Given the description of an element on the screen output the (x, y) to click on. 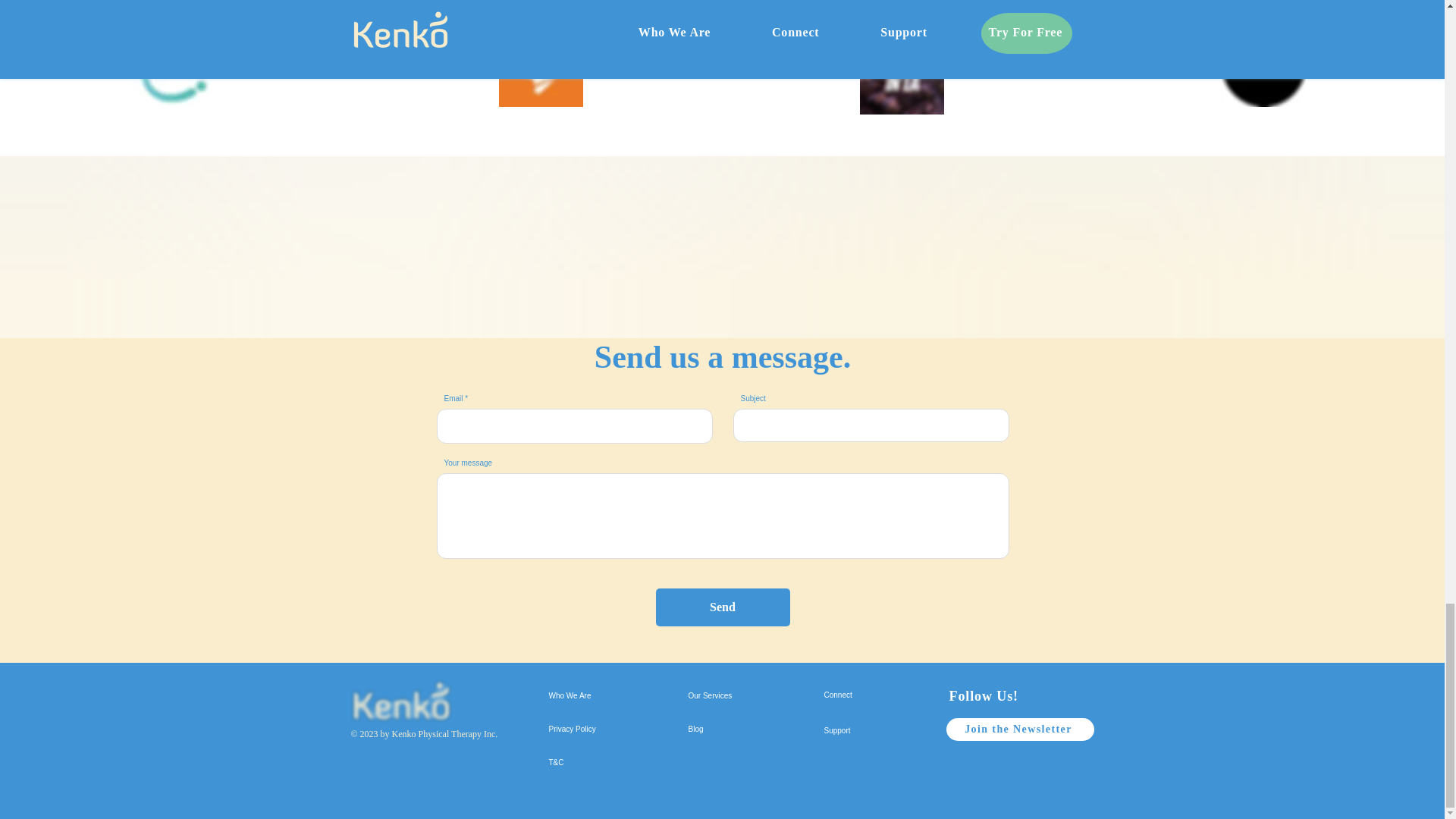
Long Beach Accelerator (176, 64)
Northeastern University Alpha Fund (1263, 64)
Send (722, 607)
Privacy Policy (599, 729)
Blog (739, 729)
Support (870, 730)
Our Services (739, 695)
Kenko logo (400, 703)
Who We Are (599, 695)
Northeastern University IDEA (541, 64)
Join the Newsletter (1020, 729)
Connect (870, 694)
